Given the description of an element on the screen output the (x, y) to click on. 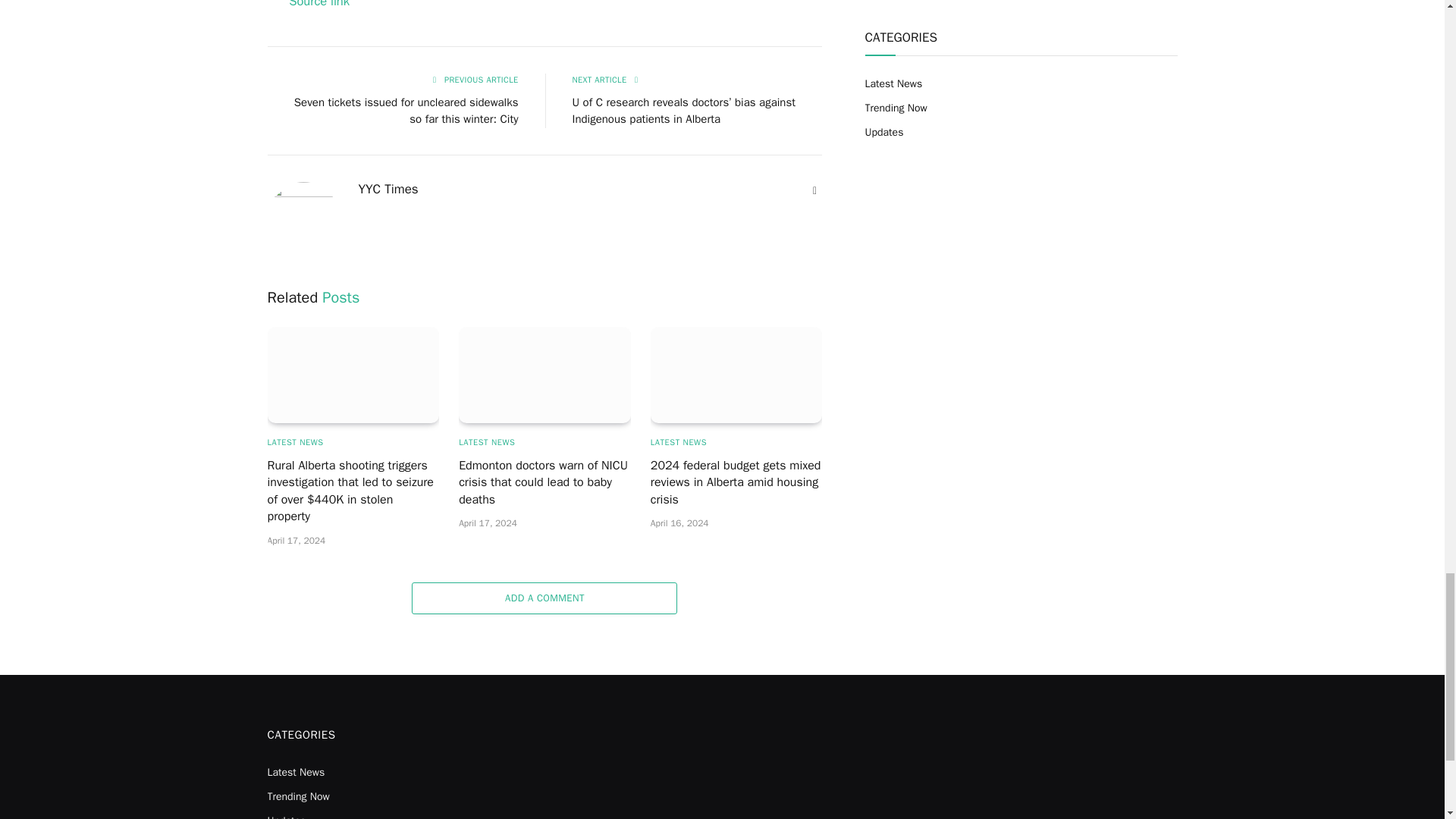
ADD A COMMENT (544, 598)
Website (814, 191)
Posts by YYC Times (387, 189)
LATEST NEWS (486, 441)
LATEST NEWS (678, 441)
LATEST NEWS (294, 441)
Source link (318, 4)
YYC Times (387, 189)
Website (814, 191)
